Given the description of an element on the screen output the (x, y) to click on. 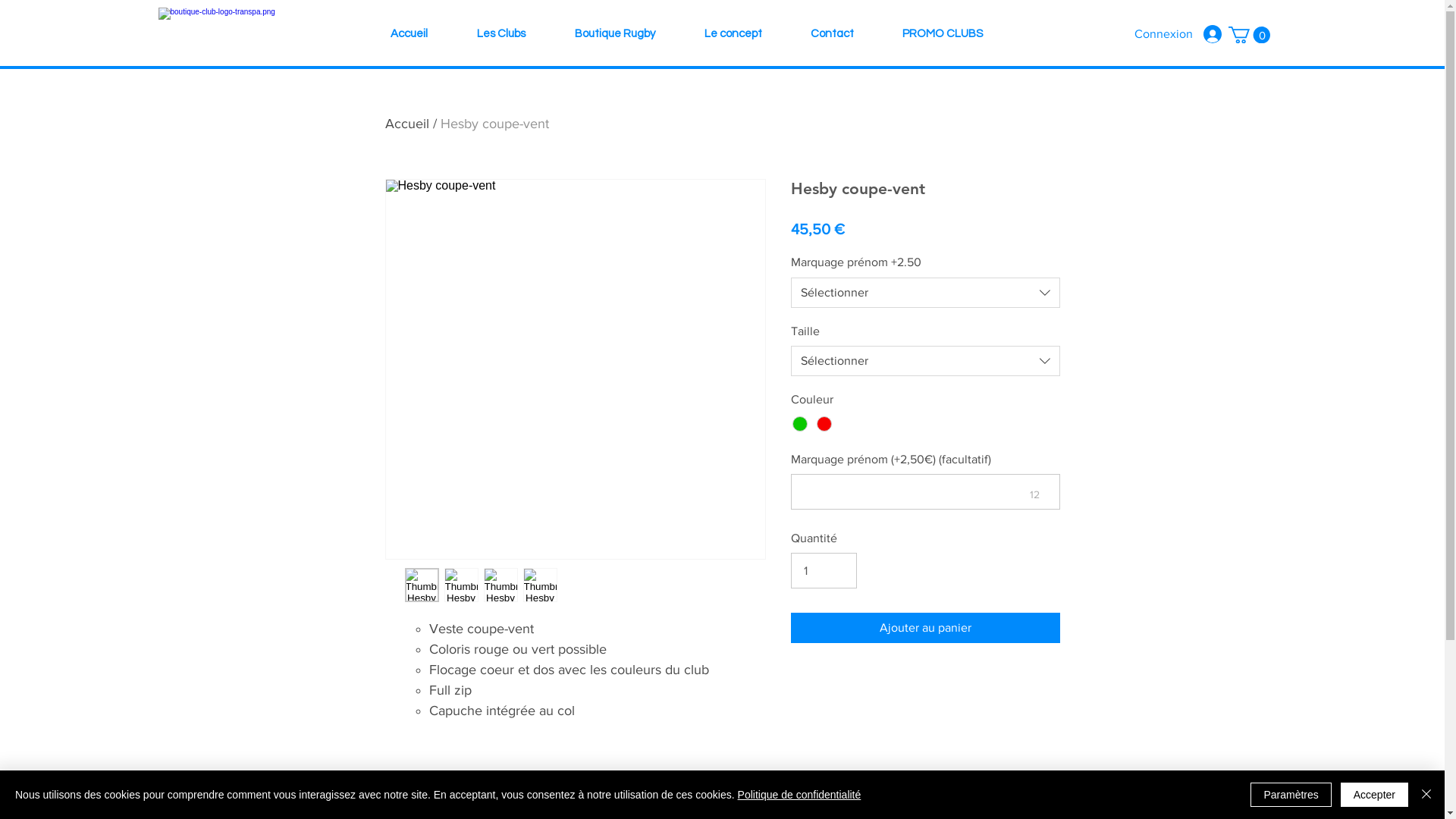
Contact Element type: text (831, 34)
Boutique Rugby Element type: text (615, 34)
0 Element type: text (1249, 34)
Les Clubs Element type: text (500, 34)
Connexion Element type: text (1177, 33)
PROMO CLUBS Element type: text (942, 34)
Hesby coupe-vent Element type: text (493, 123)
Le concept Element type: text (732, 34)
Accueil Element type: text (408, 34)
Accepter Element type: text (1374, 794)
Accueil Element type: text (407, 123)
Ajouter au panier Element type: text (924, 627)
